Given the description of an element on the screen output the (x, y) to click on. 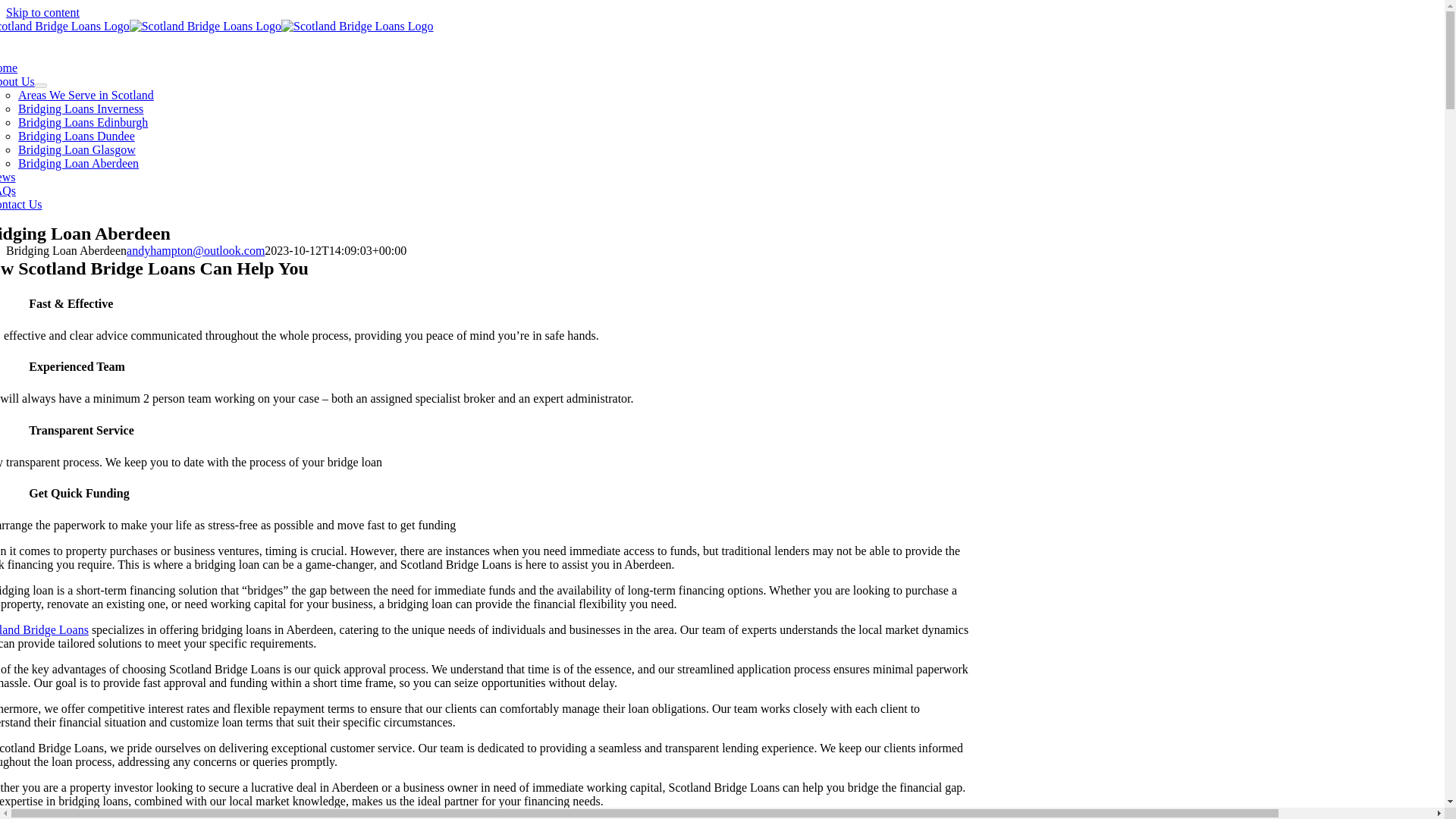
News (7, 176)
About Us (17, 81)
Bridging Loan Aberdeen (721, 233)
Skip to content (42, 11)
Home (8, 67)
Bridging Loan Glasgow (76, 149)
Areas We Serve in Scotland (85, 94)
Bridging Loans Inverness (79, 108)
FAQs (8, 190)
